Given the description of an element on the screen output the (x, y) to click on. 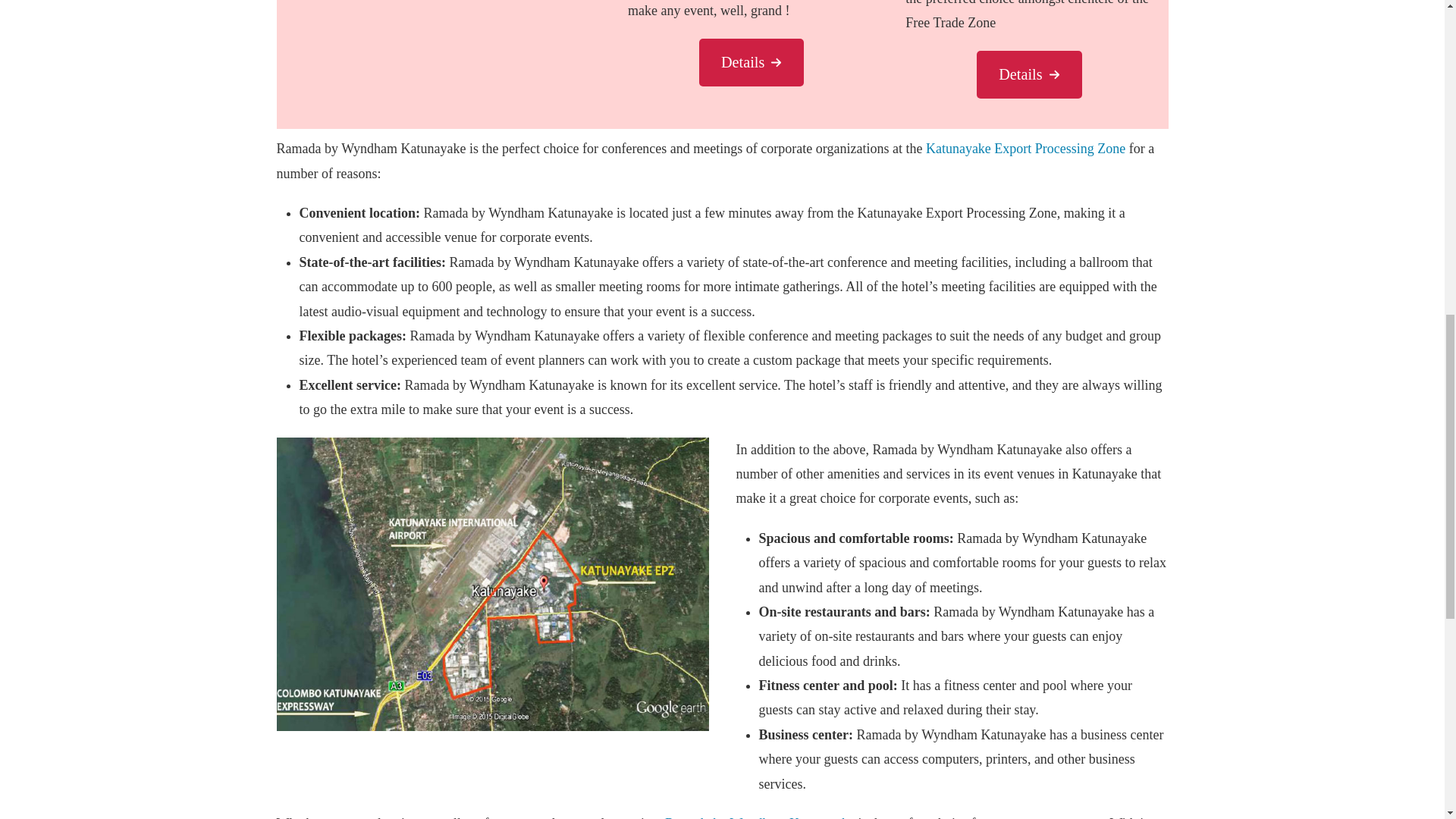
Details (1028, 74)
Katunayake Export Processing Zone (1025, 148)
Details (750, 62)
Ramada by Wyndham Katunayake (759, 817)
